Given the description of an element on the screen output the (x, y) to click on. 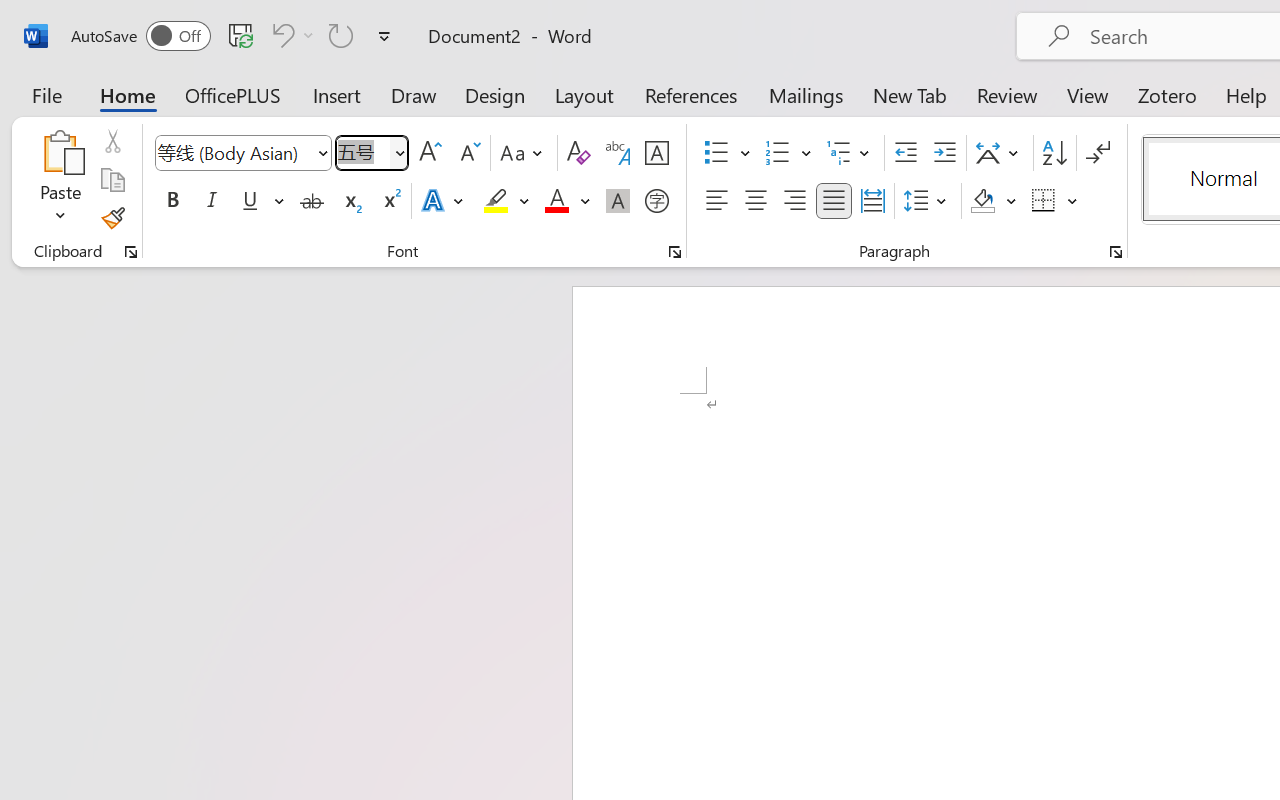
Font Size (362, 152)
New Tab (909, 94)
Font Color (567, 201)
Character Border (656, 153)
File Tab (46, 94)
Subscript (350, 201)
View (1087, 94)
Insert (337, 94)
Format Painter (112, 218)
Numbering (788, 153)
Bold (172, 201)
Design (495, 94)
Can't Undo (290, 35)
Change Case (524, 153)
